Given the description of an element on the screen output the (x, y) to click on. 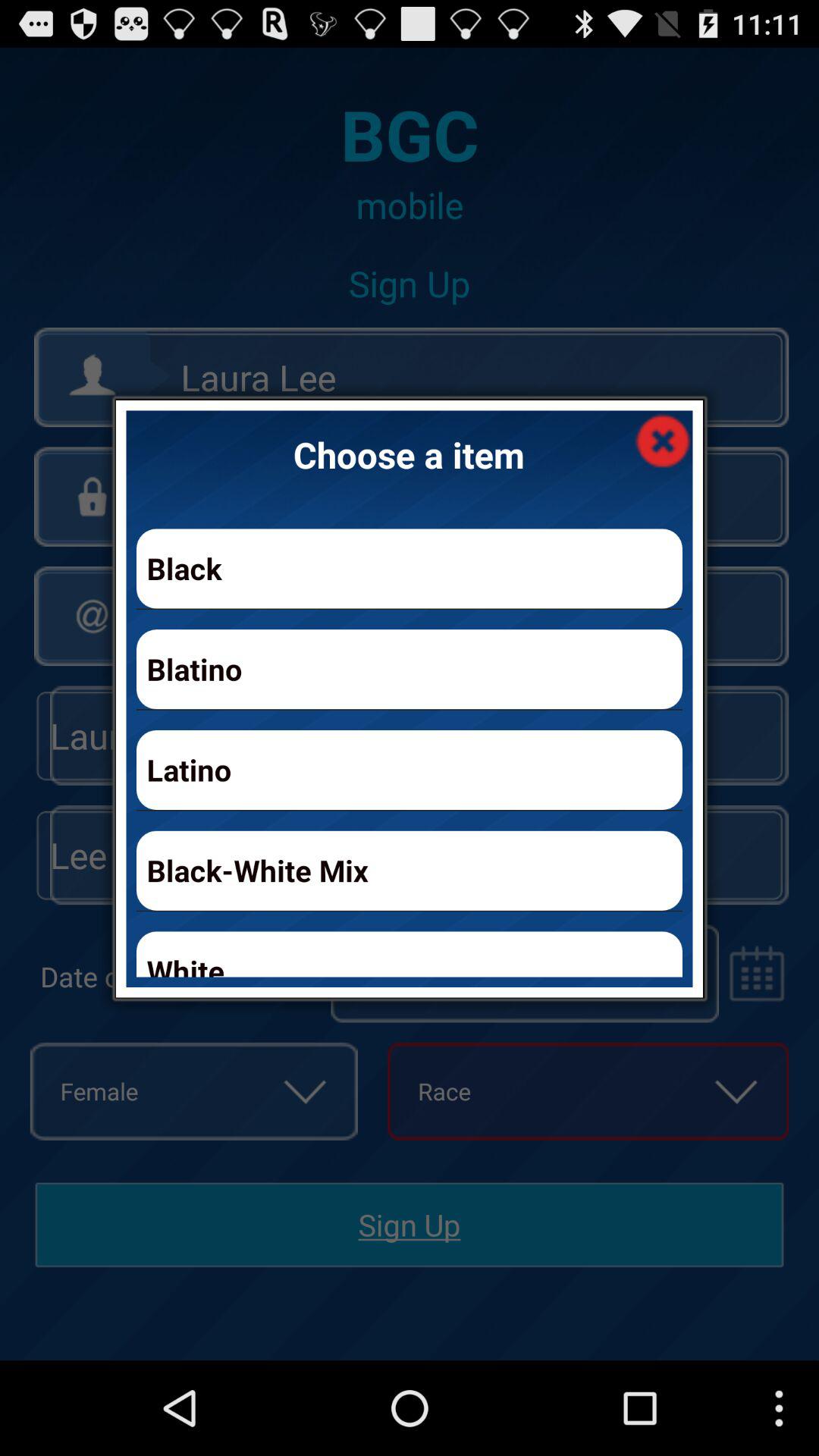
open icon above white icon (409, 870)
